Given the description of an element on the screen output the (x, y) to click on. 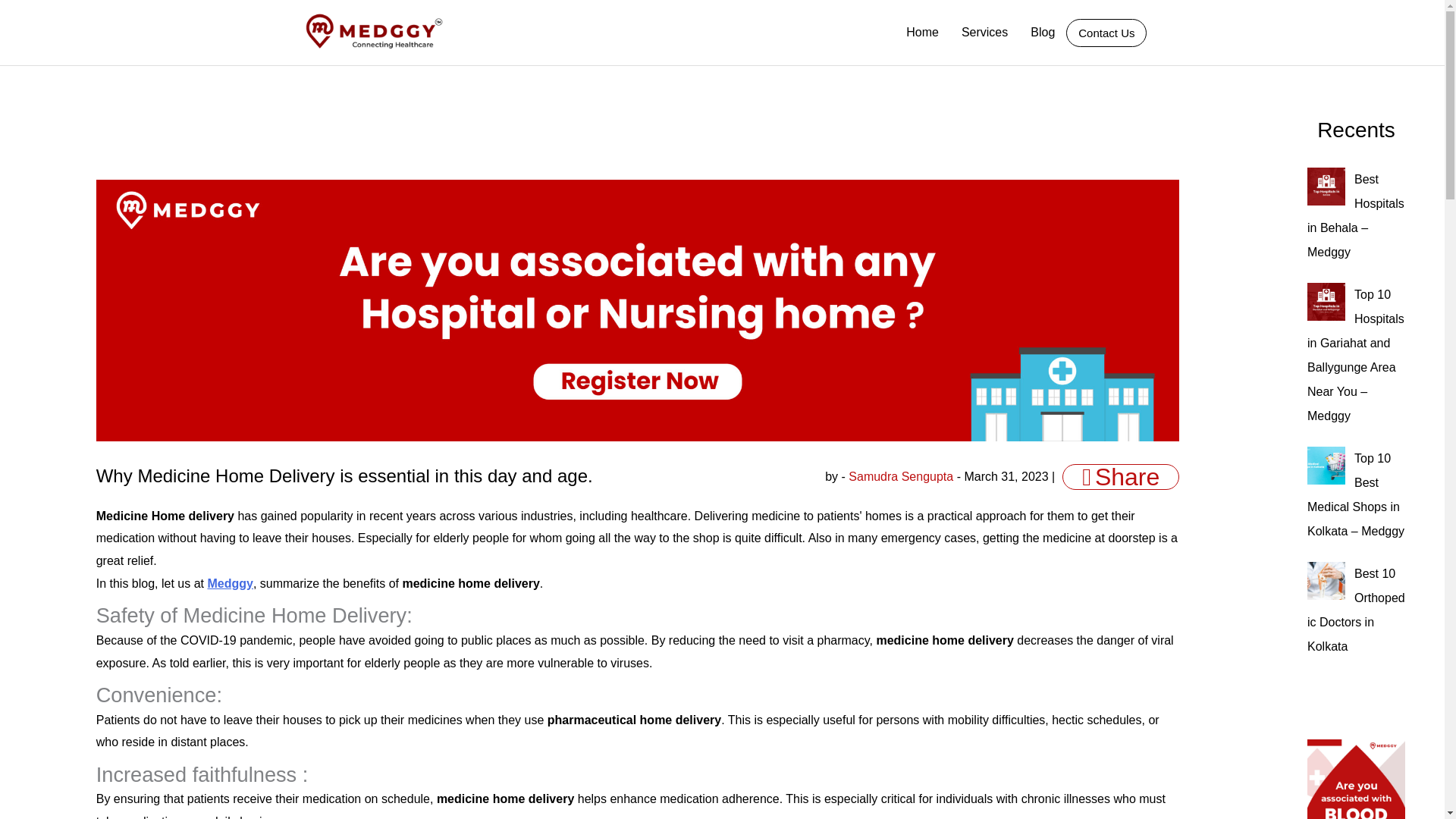
Services (984, 32)
Medggy (228, 583)
Contact Us (1106, 32)
Blog (1042, 32)
Home (922, 32)
Share (1120, 476)
